Given the description of an element on the screen output the (x, y) to click on. 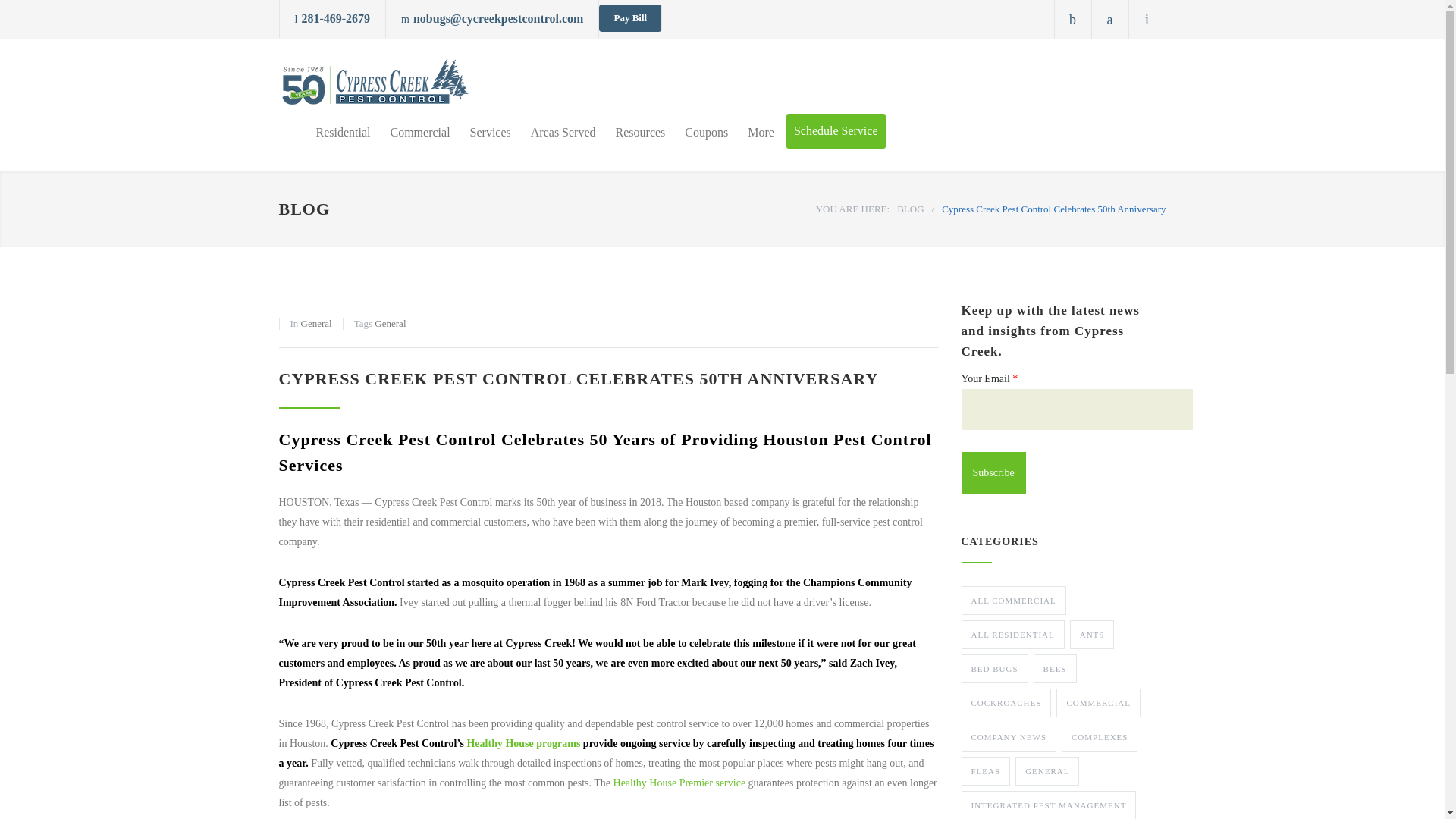
Subscribe (993, 473)
Pay Bill (629, 17)
Services (480, 132)
More (751, 132)
Residential (343, 132)
Residential (343, 132)
Coupons (696, 132)
281-469-2679 (335, 18)
logo (373, 85)
Commercial (409, 132)
